Given the description of an element on the screen output the (x, y) to click on. 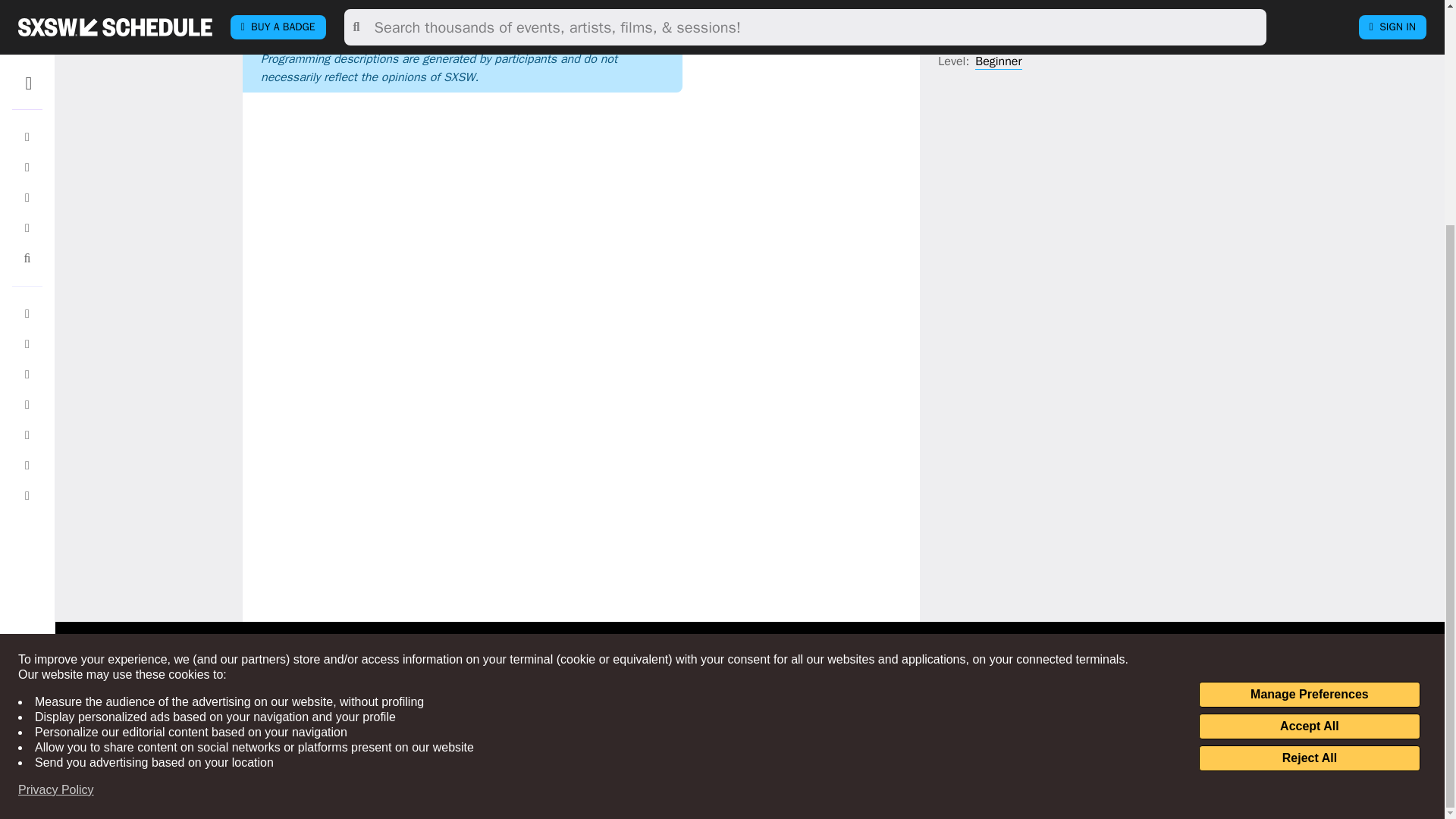
Accept All (1309, 425)
Sign In to add to your favorites. (818, 14)
Manage Preferences (1309, 394)
Privacy Policy (55, 489)
Reject All (1309, 457)
